Given the description of an element on the screen output the (x, y) to click on. 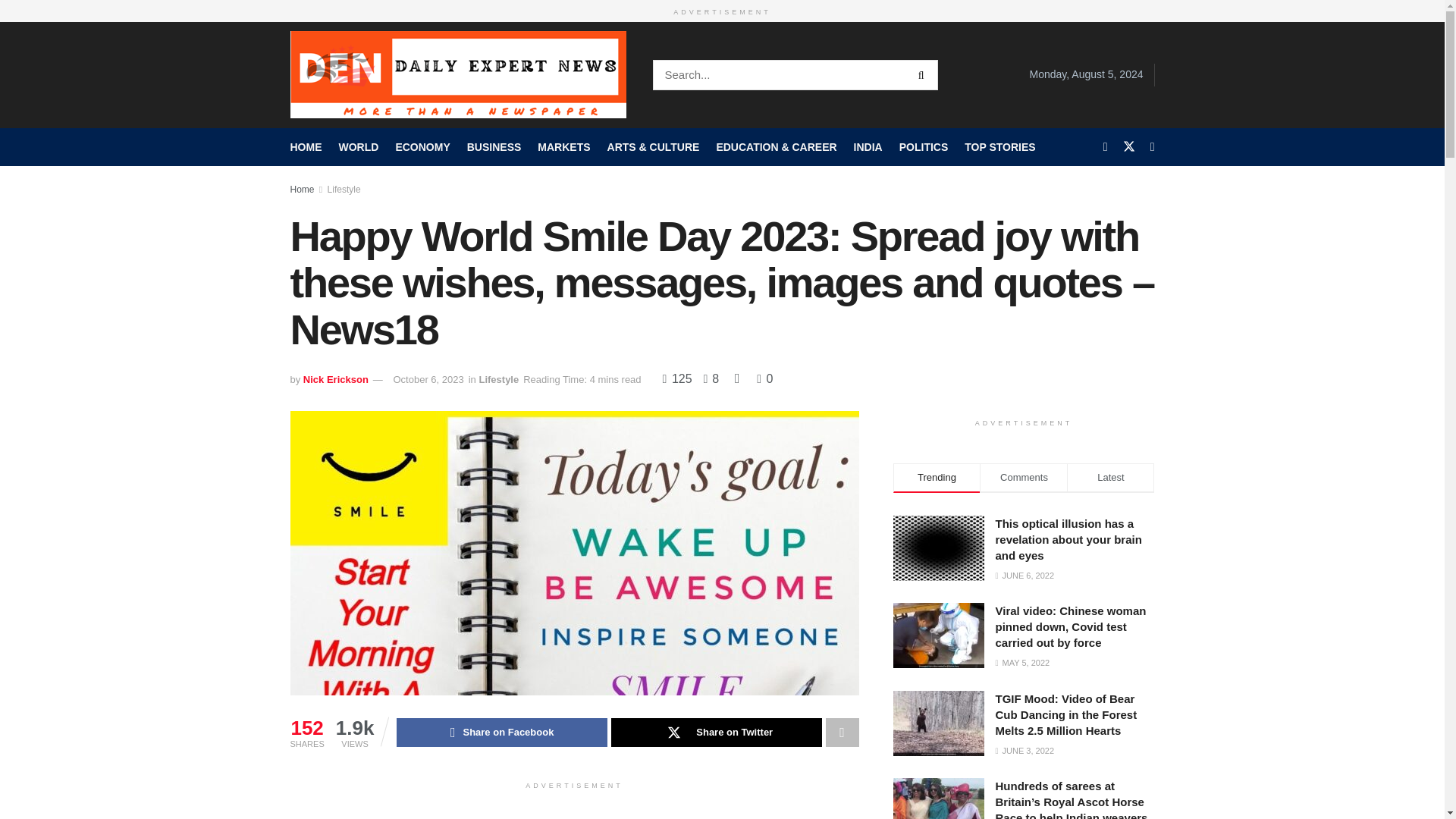
ECONOMY (421, 146)
BUSINESS (494, 146)
POLITICS (924, 146)
TOP STORIES (999, 146)
WORLD (357, 146)
MARKETS (563, 146)
